Given the description of an element on the screen output the (x, y) to click on. 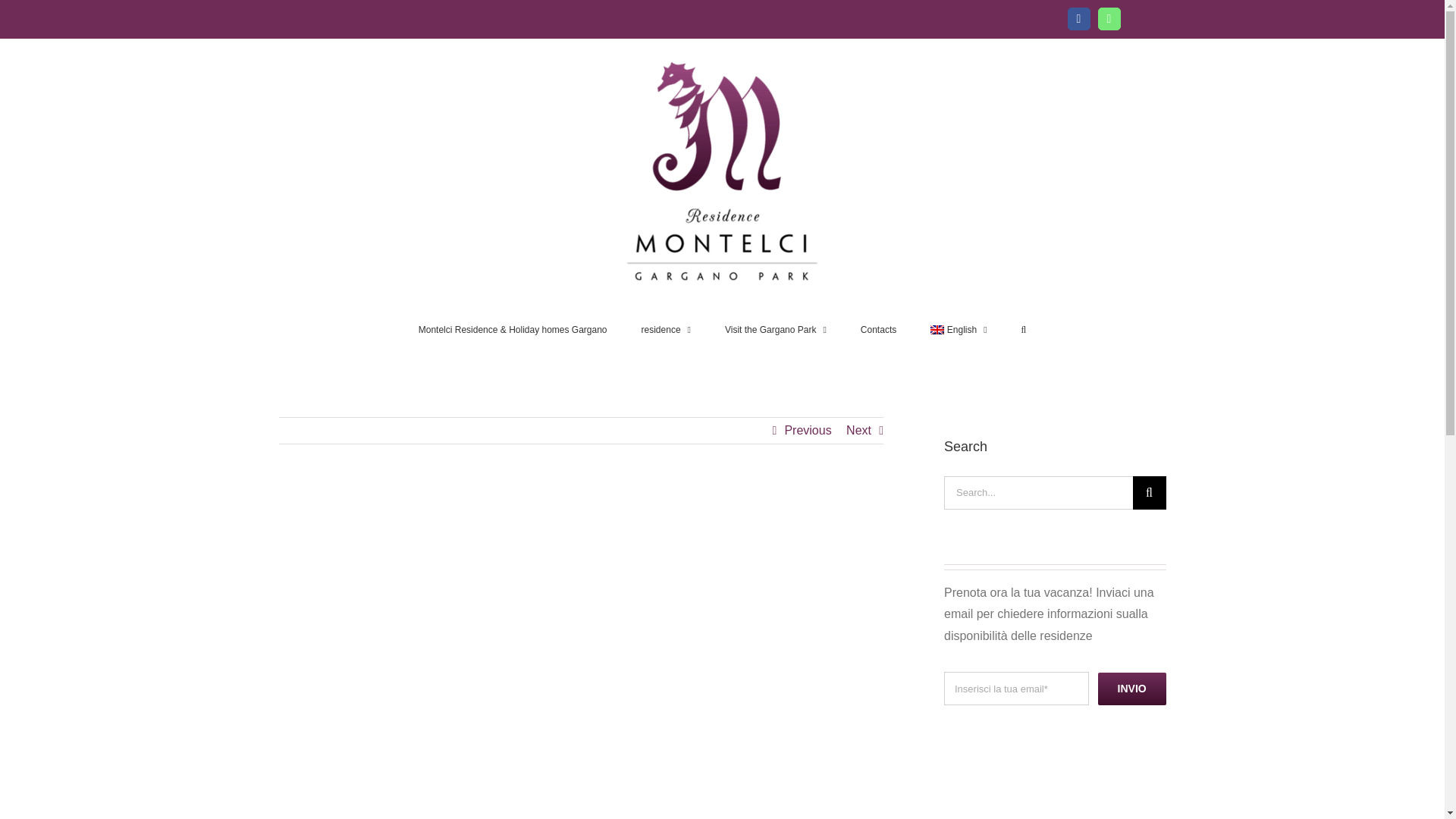
English (958, 328)
WhatsApp (1109, 18)
residence (666, 328)
home (513, 328)
Next (857, 430)
Contacts (878, 328)
Search (1024, 328)
contatti (878, 328)
Visit the Gargano Park (776, 328)
English (958, 328)
WhatsApp (1109, 18)
Facebook (1078, 18)
residence (666, 328)
INVIO (1054, 696)
Previous (807, 430)
